Given the description of an element on the screen output the (x, y) to click on. 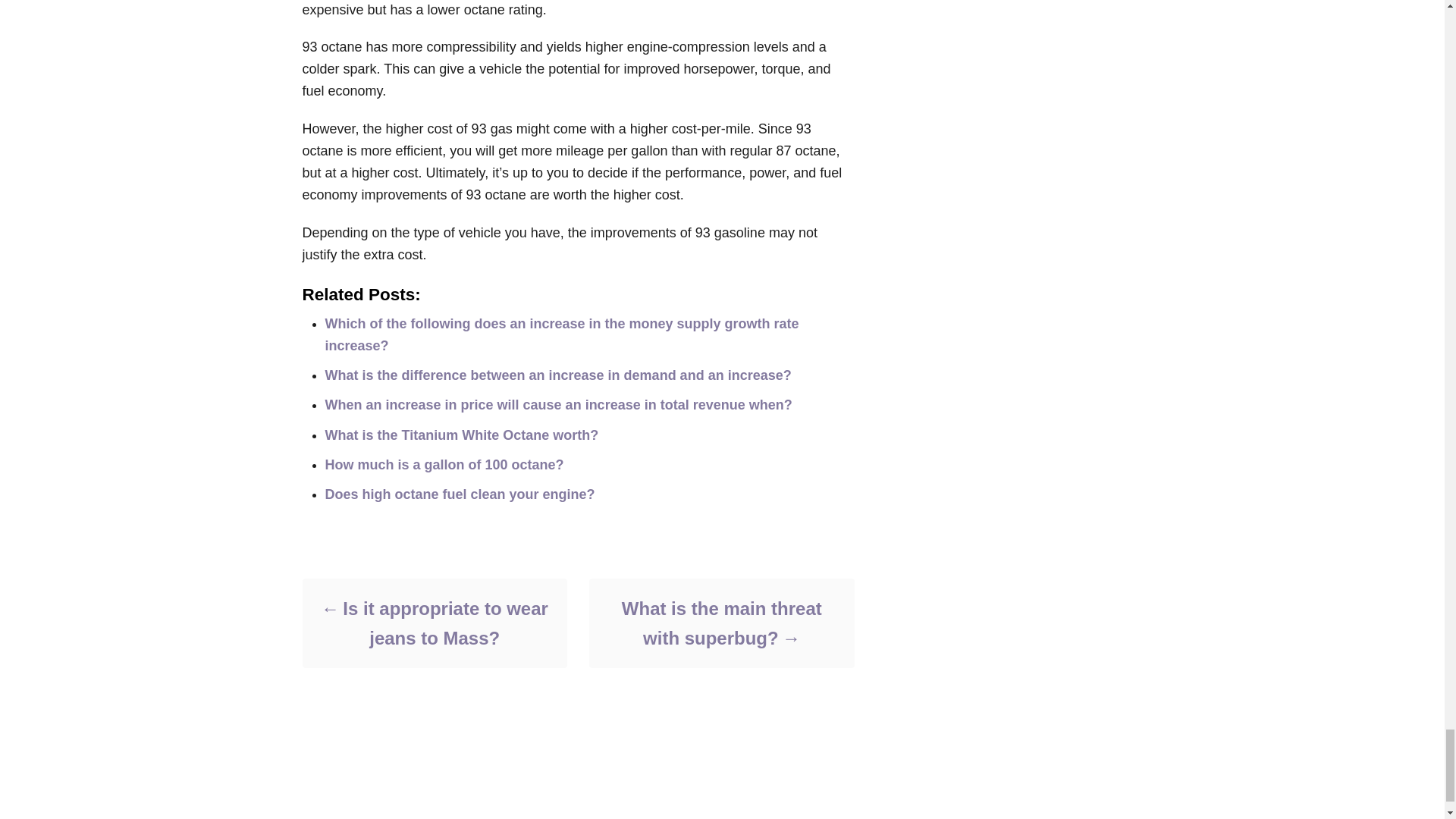
Is it appropriate to wear jeans to Mass? (434, 622)
How much is a gallon of 100 octane? (443, 464)
Does high octane fuel clean your engine? (459, 494)
What is the Titanium White Octane worth? (461, 435)
What is the main threat with superbug? (721, 622)
